Given the description of an element on the screen output the (x, y) to click on. 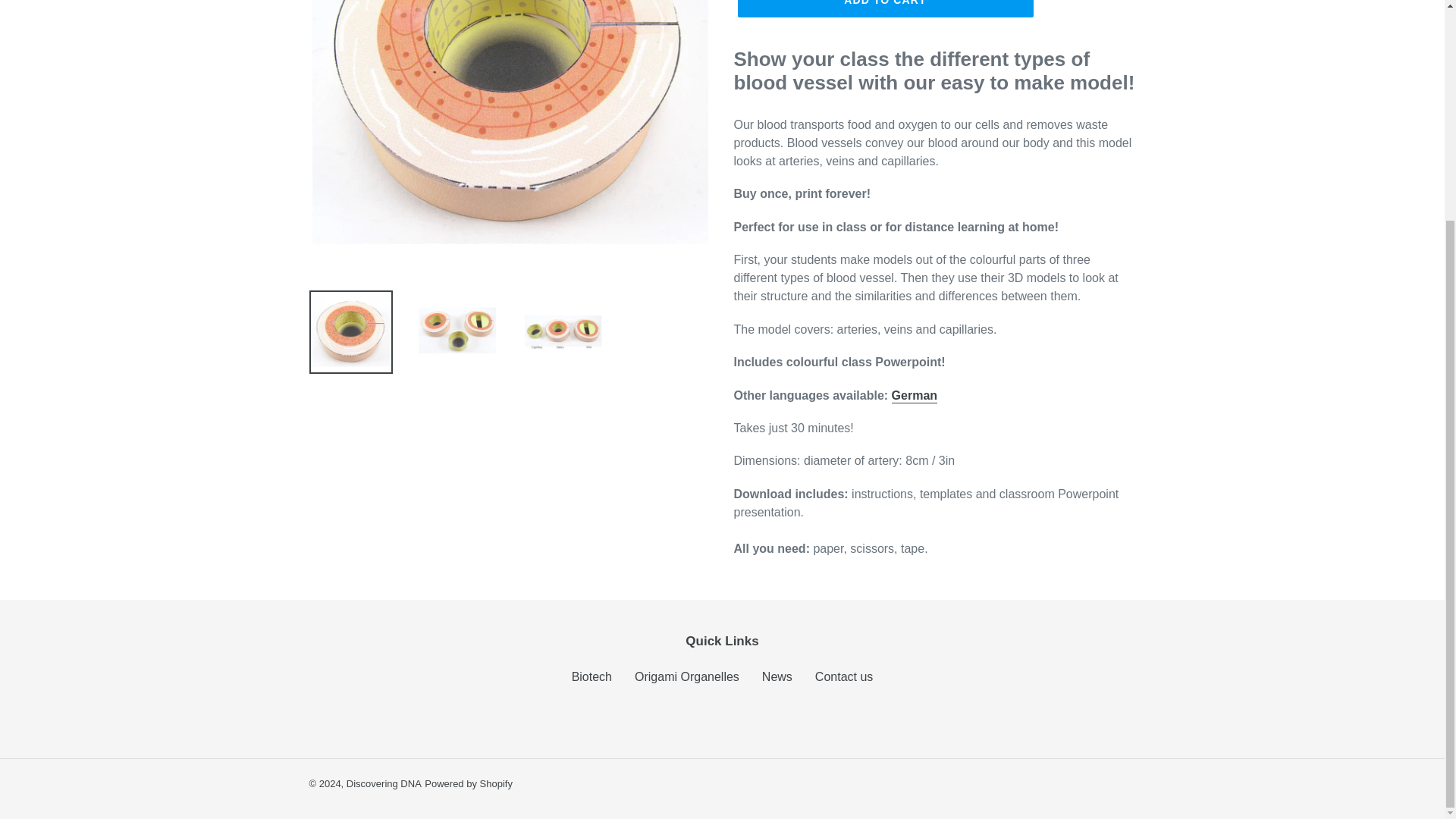
blood vessels origami organelle german (914, 396)
